Given the description of an element on the screen output the (x, y) to click on. 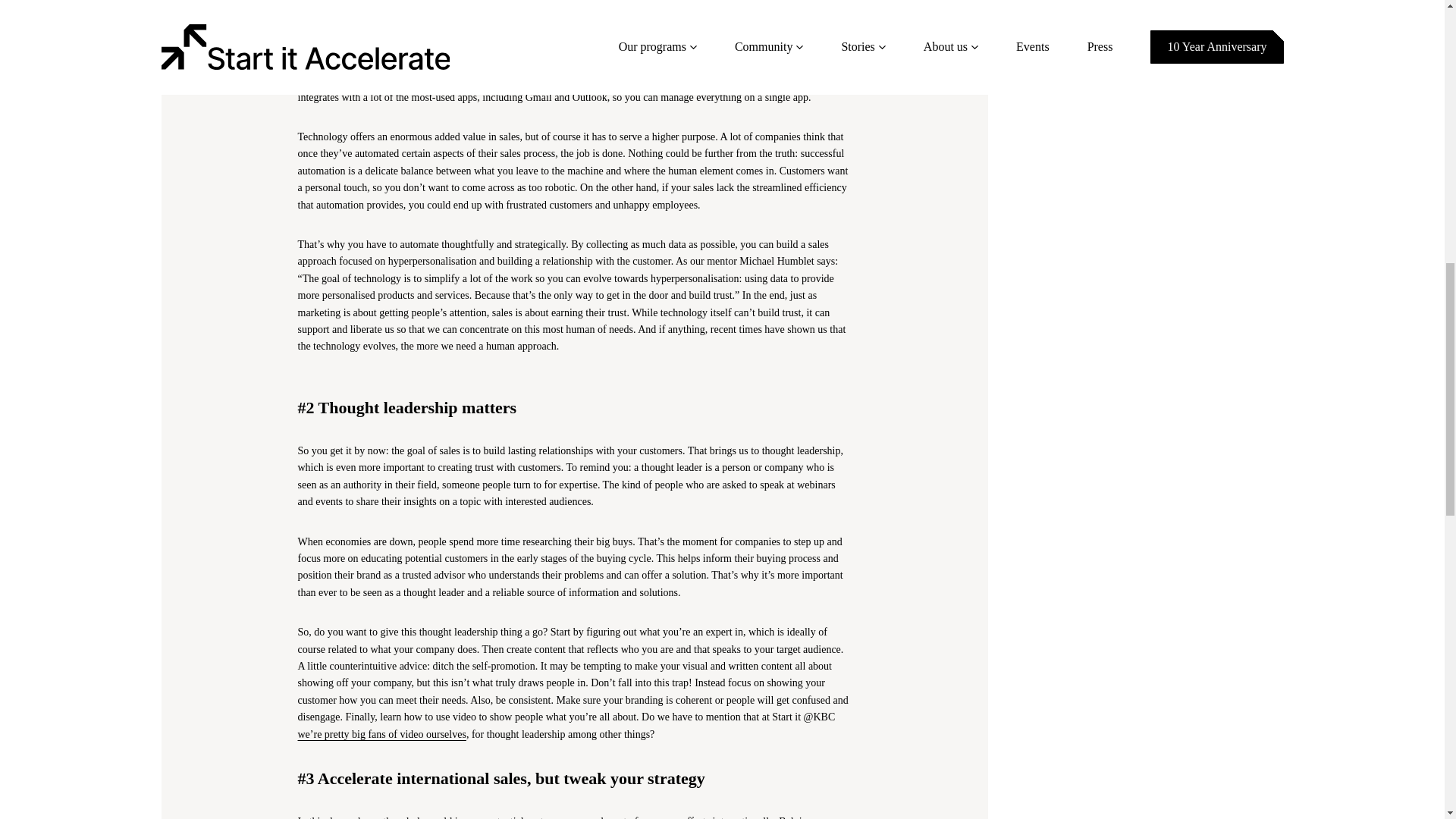
writes (699, 45)
Salesflare (474, 62)
